Given the description of an element on the screen output the (x, y) to click on. 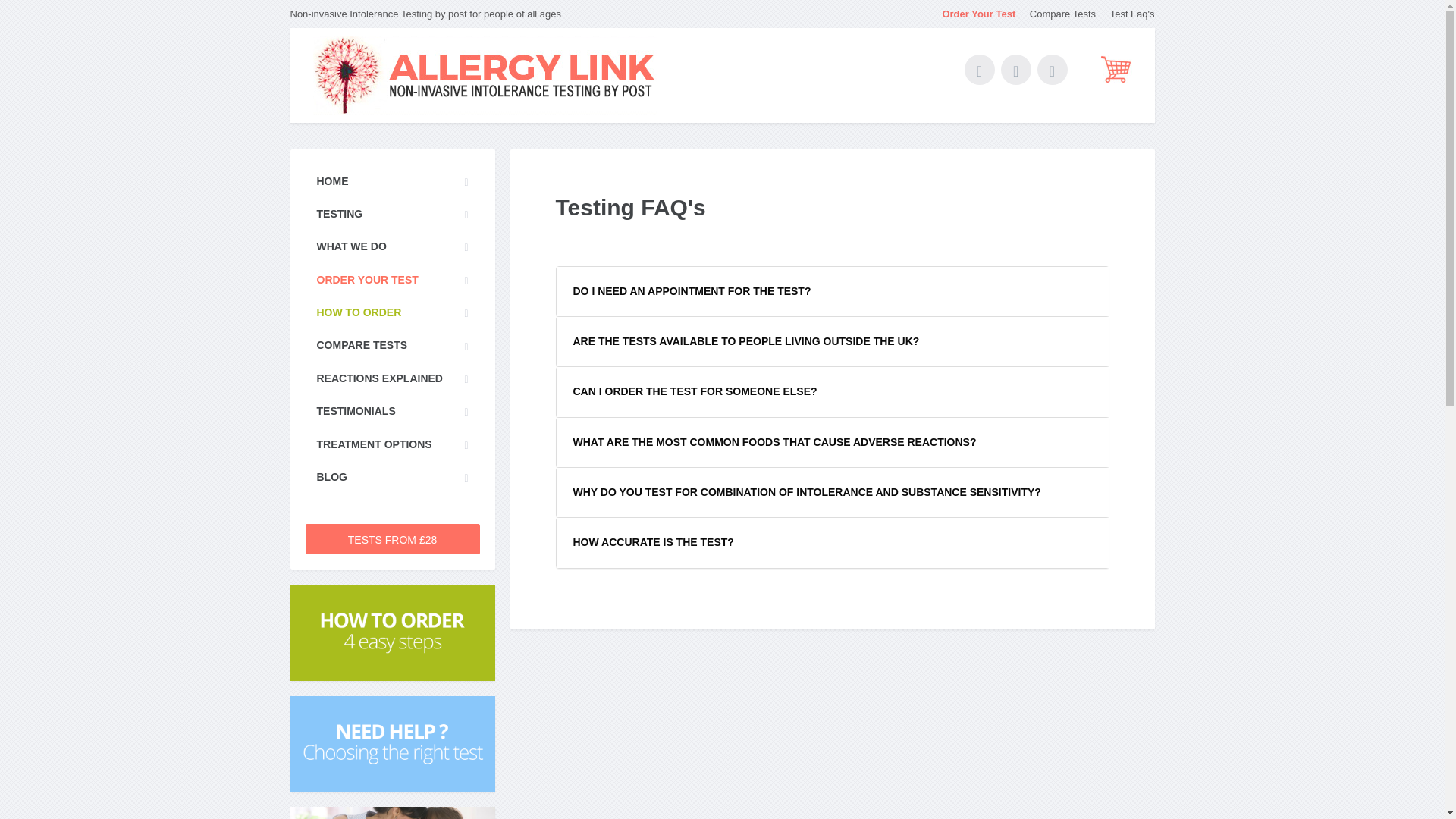
CAN I ORDER THE TEST FOR SOMEONE ELSE? (832, 391)
TESTING (391, 214)
Compare Tests (1056, 13)
COMPARE TESTS (391, 345)
Test Faq's (1126, 13)
WHAT ARE THE MOST COMMON FOODS THAT CAUSE ADVERSE REACTIONS? (832, 441)
Order Your Test (972, 13)
ORDER YOUR TEST (391, 279)
ARE THE TESTS AVAILABLE TO PEOPLE LIVING OUTSIDE THE UK? (832, 341)
TREATMENT OPTIONS (391, 444)
